Given the description of an element on the screen output the (x, y) to click on. 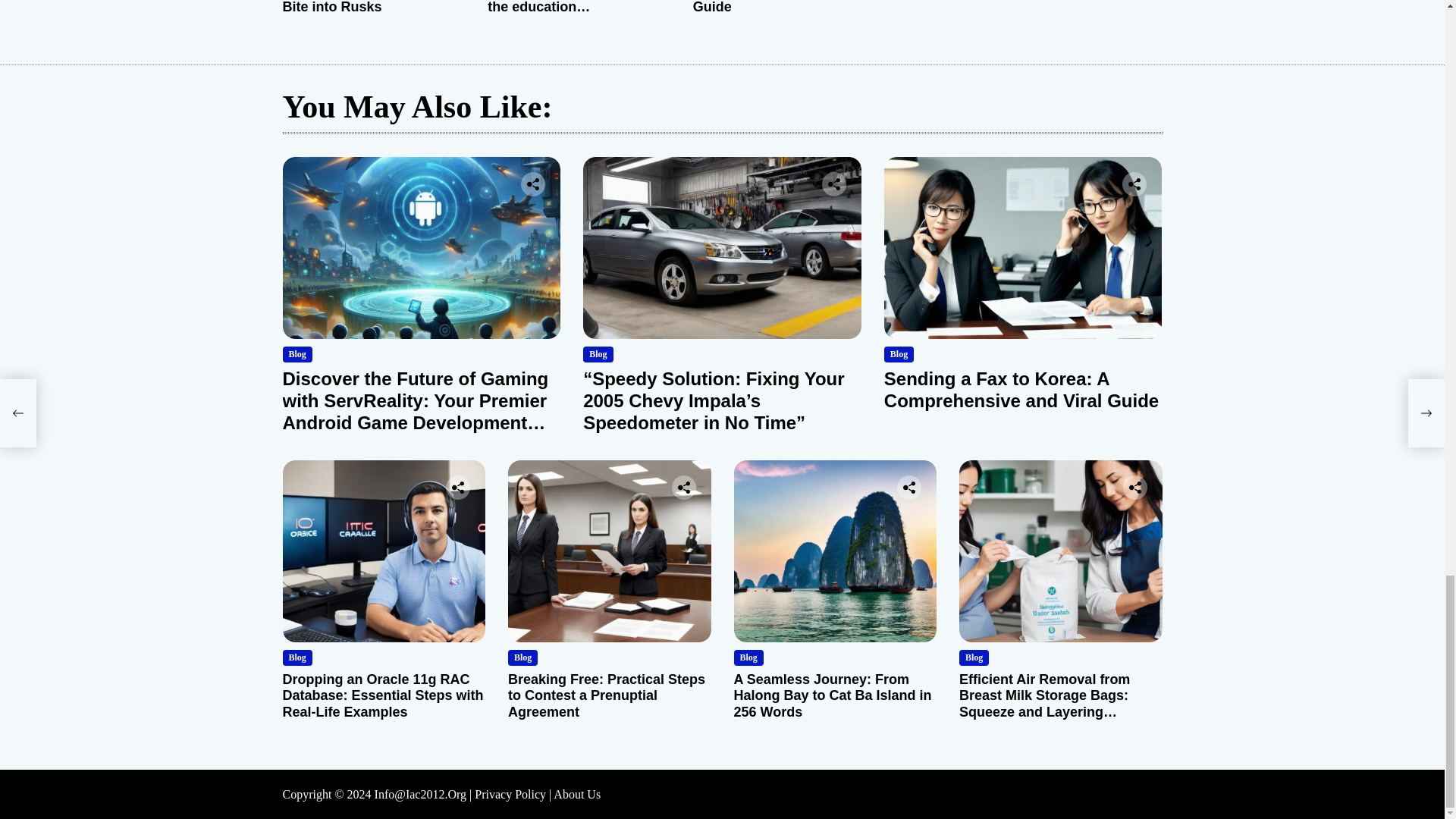
Extracting Business Leads from Forums: A 256-Word Guide (780, 7)
